Given the description of an element on the screen output the (x, y) to click on. 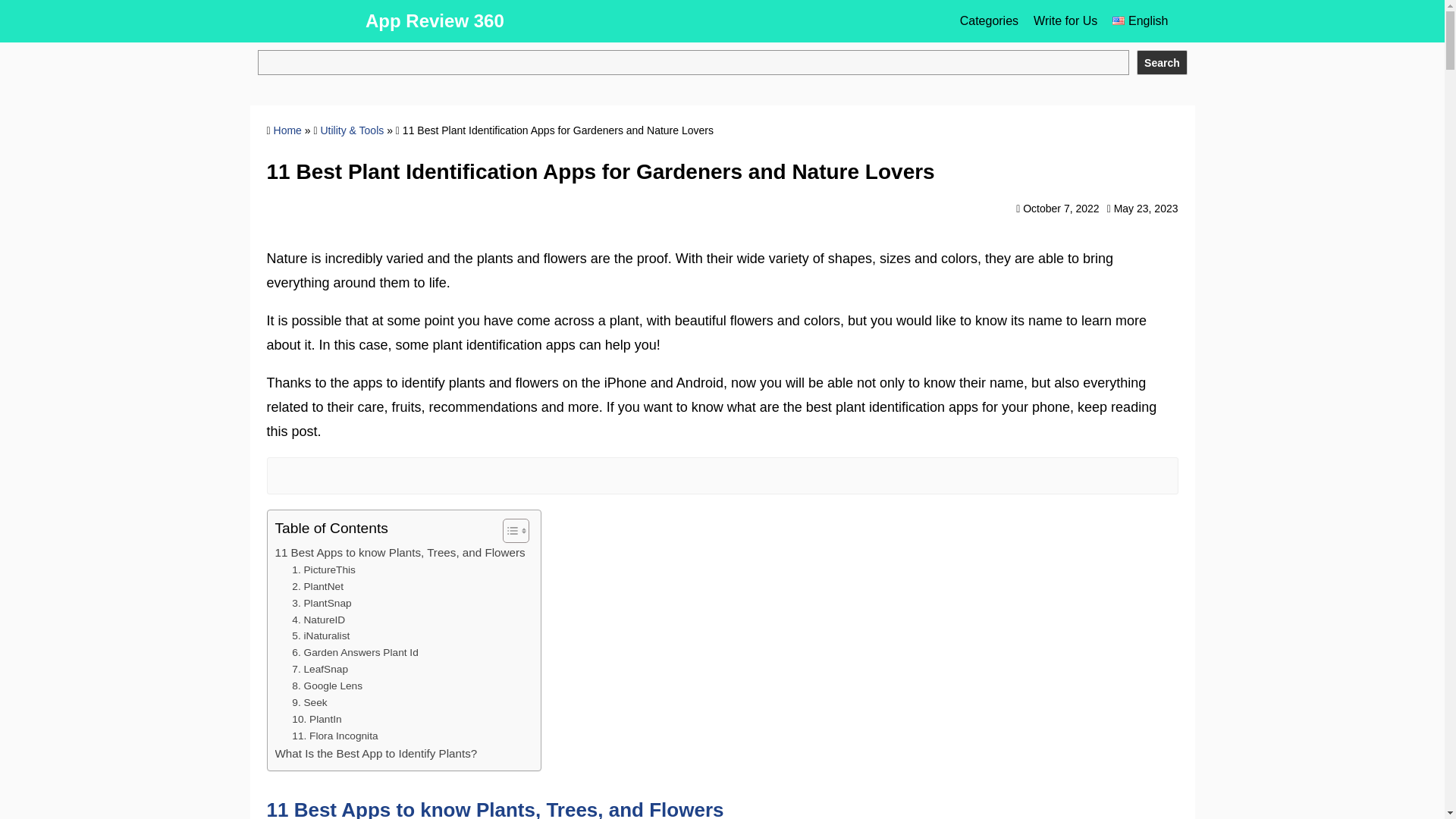
Categories (988, 21)
1. PictureThis (323, 569)
7. LeafSnap (319, 669)
Home (287, 130)
11. Flora Incognita (334, 736)
6. Garden Answers Plant Id (354, 652)
10. PlantIn (316, 719)
3. PlantSnap (321, 603)
What Is the Best App to Identify Plants? (376, 753)
2. PlantNet (317, 586)
